Given the description of an element on the screen output the (x, y) to click on. 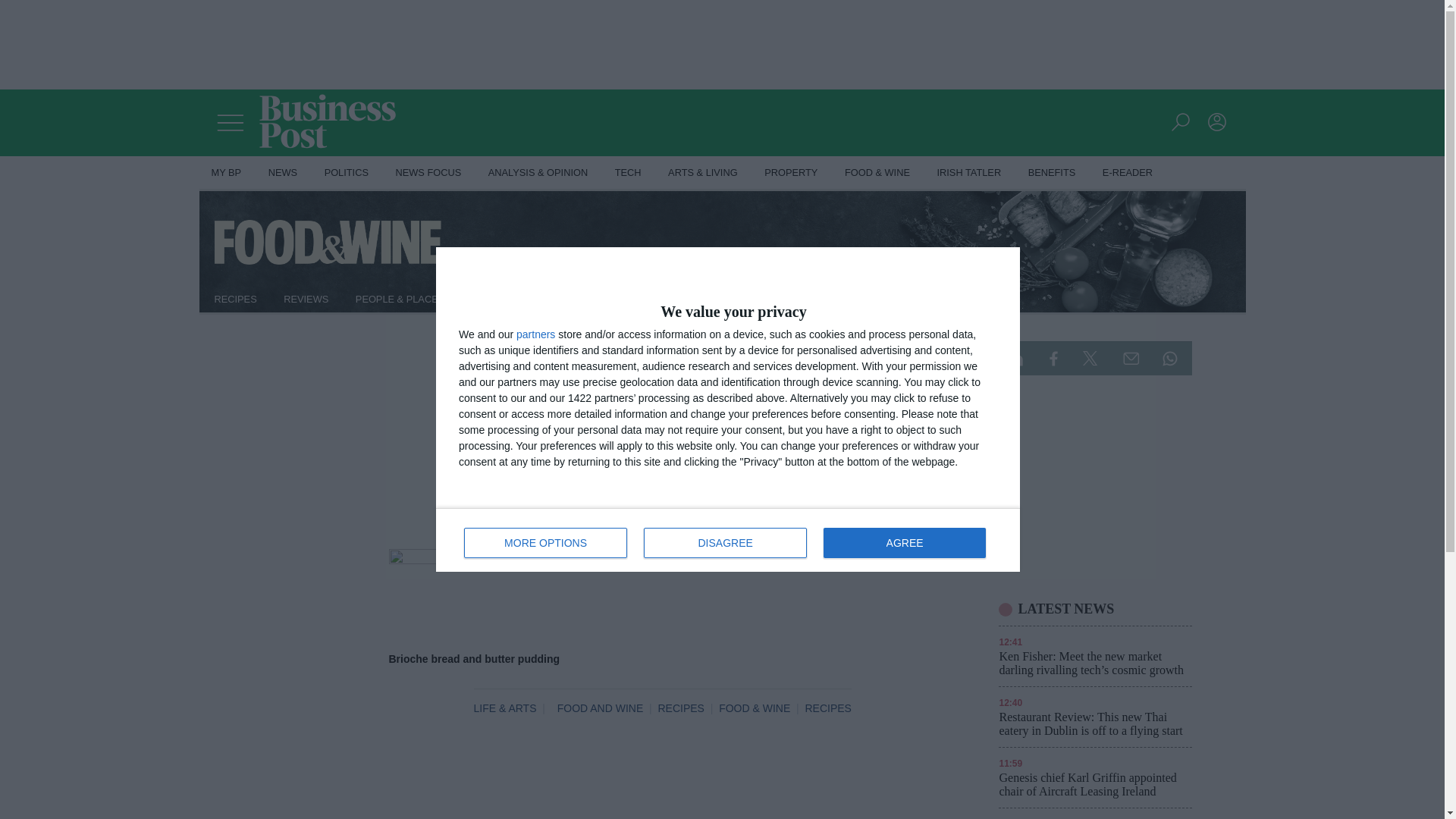
MORE OPTIONS (545, 542)
E-READER (1127, 172)
IRISH TATLER (968, 172)
TECH (627, 172)
NEWS FOCUS (429, 172)
AGREE (904, 542)
DISAGREE (724, 542)
MY BP (225, 172)
PROPERTY (790, 172)
POLITICS (346, 172)
NEWS (282, 172)
partners (535, 334)
BENEFITS (1051, 172)
